Given the description of an element on the screen output the (x, y) to click on. 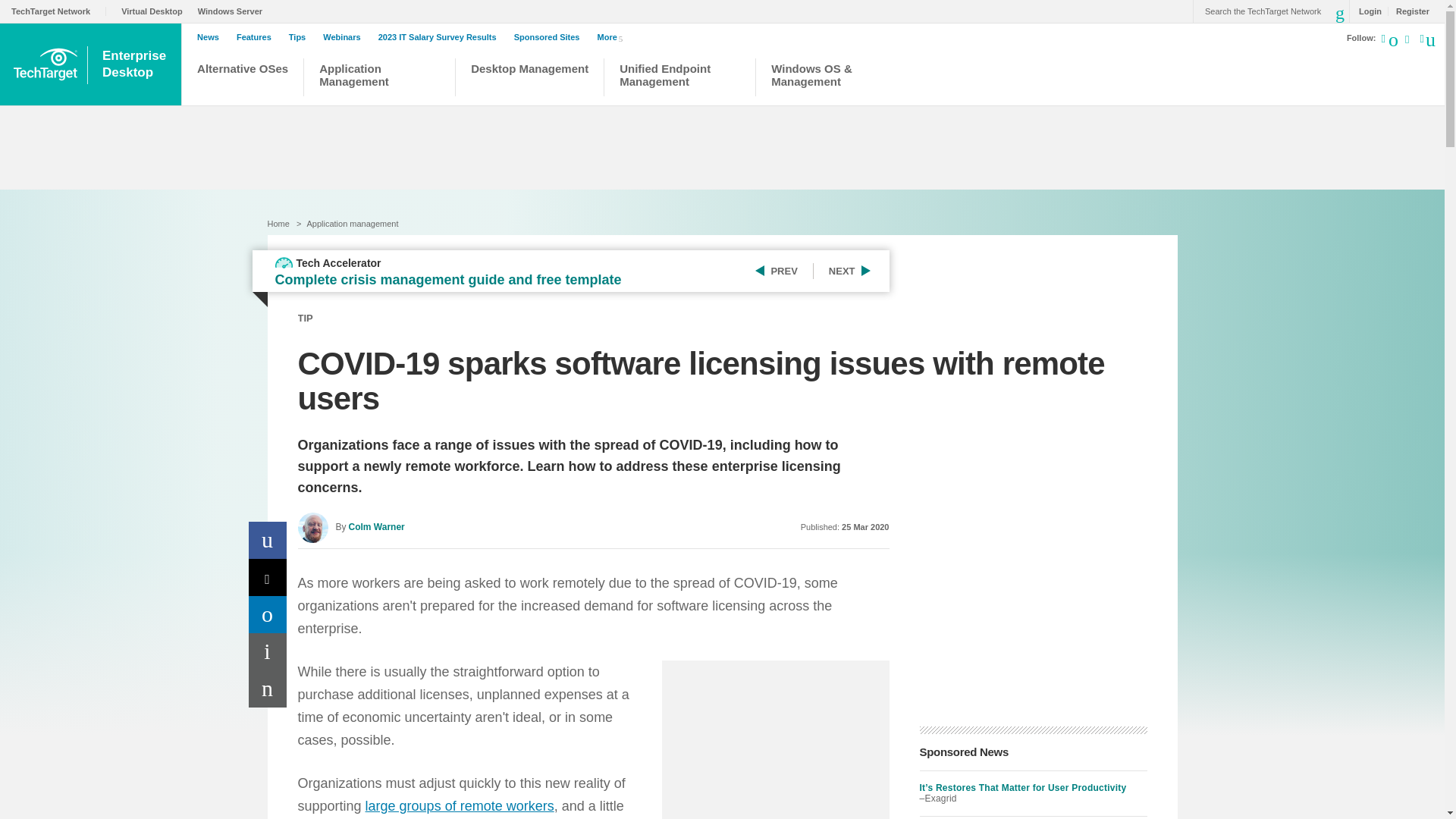
Share on LinkedIn (267, 614)
Share on X (267, 577)
Sponsored Sites (550, 36)
Application management (351, 223)
Application Management (378, 79)
Desktop Management (529, 79)
Webinars (345, 36)
Windows Server (233, 10)
TechTarget Network (58, 10)
